Given the description of an element on the screen output the (x, y) to click on. 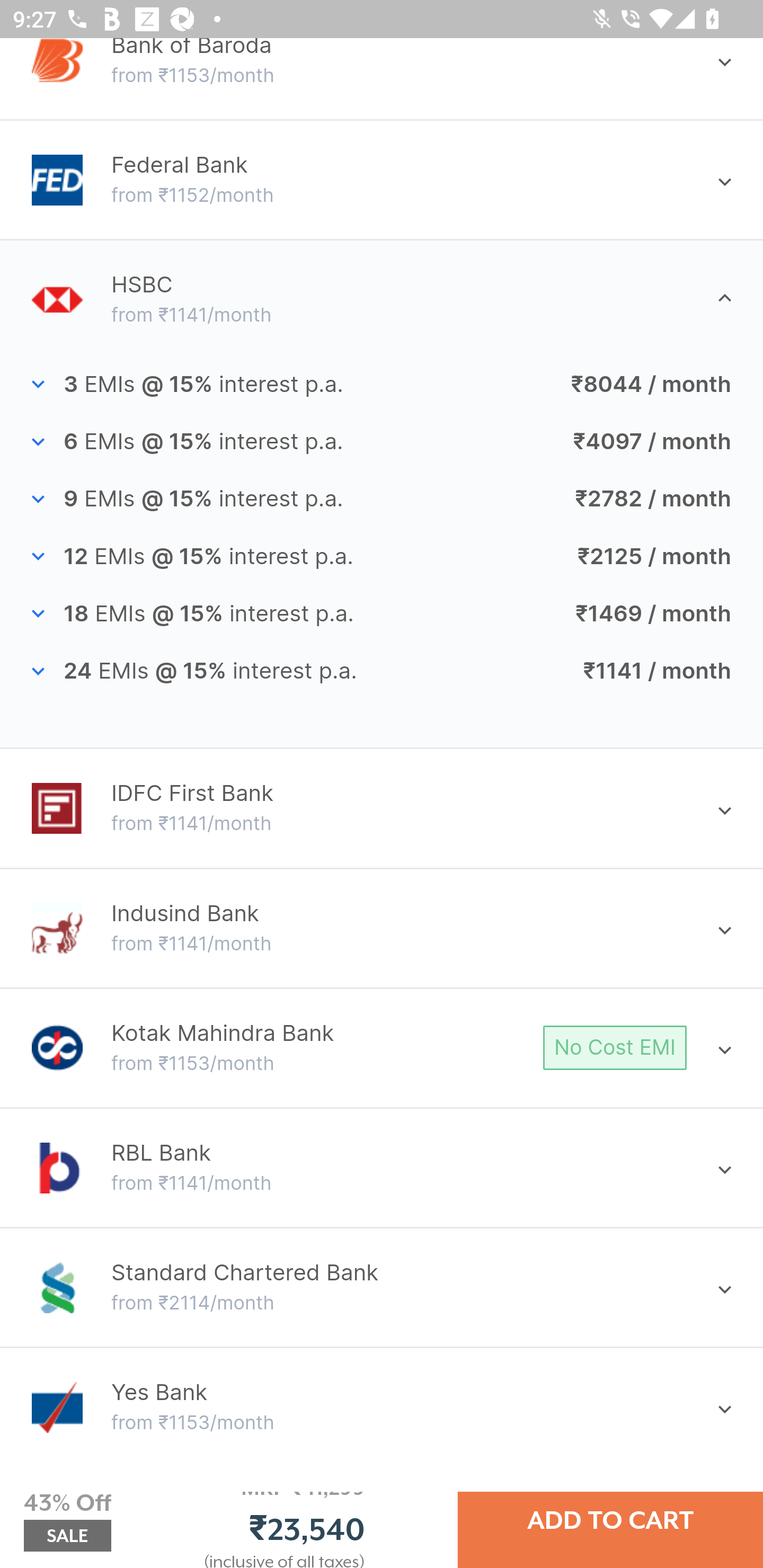
Bank of Baroda Bank of Baroda from ₹1153/month (381, 63)
Federal Bank Federal Bank from ₹1152/month (381, 180)
HSBC HSBC from ₹1141/month (381, 299)
3 EMIs @ 15% interest p.a. ₹8044 / month (381, 383)
6 EMIs @ 15% interest p.a. ₹4097 / month (381, 442)
9 EMIs @ 15% interest p.a. ₹2782 / month (381, 499)
12 EMIs @ 15% interest p.a. ₹2125 / month (381, 557)
18 EMIs @ 15% interest p.a. ₹1469 / month (381, 613)
24 EMIs @ 15% interest p.a. ₹1141 / month (381, 671)
IDFC First Bank IDFC First Bank from ₹1141/month (381, 807)
Indusind Bank Indusind Bank from ₹1141/month (381, 928)
RBL Bank RBL Bank from ₹1141/month (381, 1167)
Yes Bank Yes Bank from ₹1153/month (381, 1406)
ADD TO CART (610, 1520)
